Given the description of an element on the screen output the (x, y) to click on. 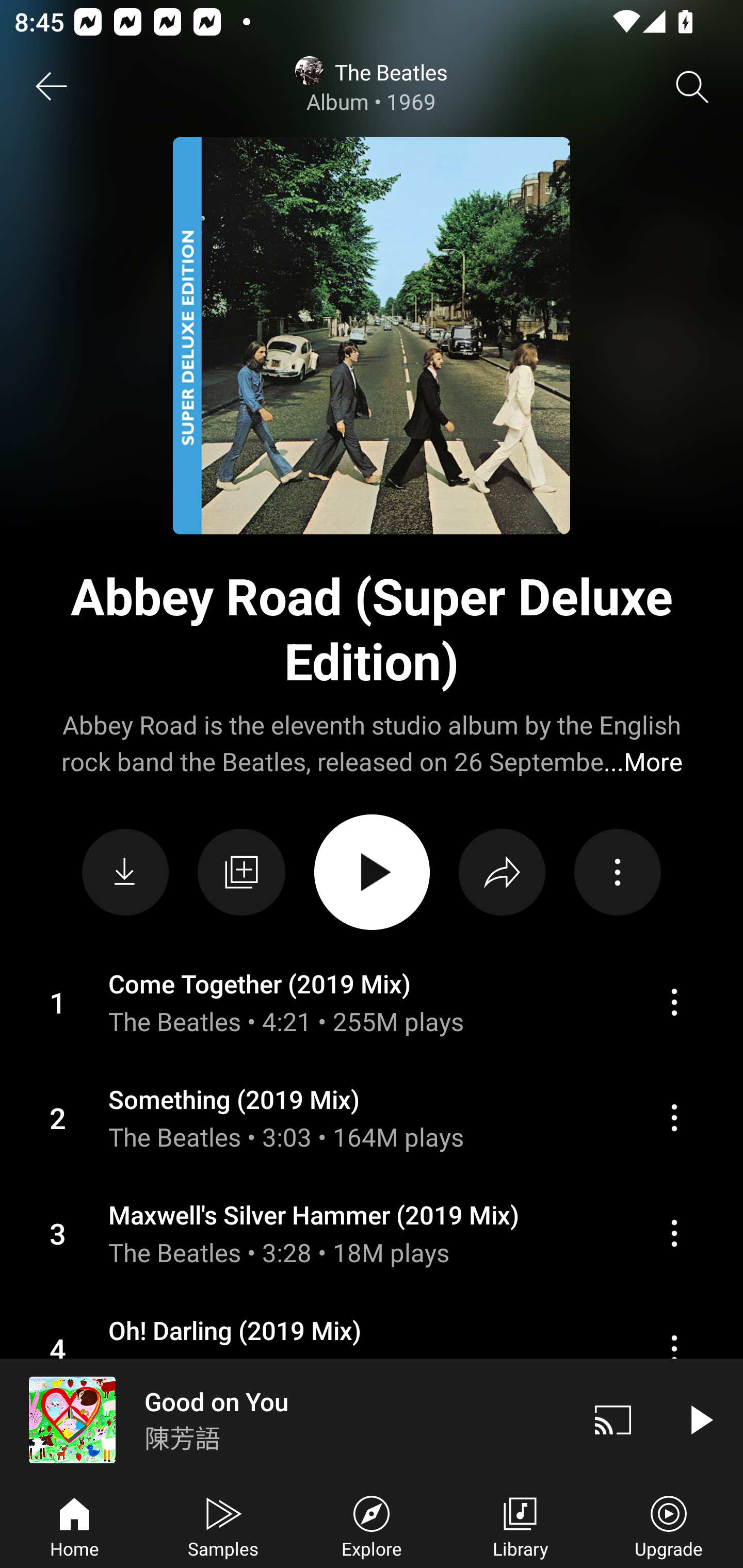
Back (50, 86)
Search (692, 86)
PLAY ALL (371, 871)
Download (125, 871)
Share (501, 871)
Action menu (617, 871)
Save to library (241, 872)
Action menu (371, 1001)
Action menu (673, 1002)
Action menu (371, 1117)
Action menu (673, 1117)
Action menu (371, 1233)
Action menu (673, 1233)
Good on You 陳芳語 (284, 1419)
Cast. Disconnected (612, 1419)
Play video (699, 1419)
Home (74, 1524)
Samples (222, 1524)
Explore (371, 1524)
Library (519, 1524)
Upgrade (668, 1524)
